Given the description of an element on the screen output the (x, y) to click on. 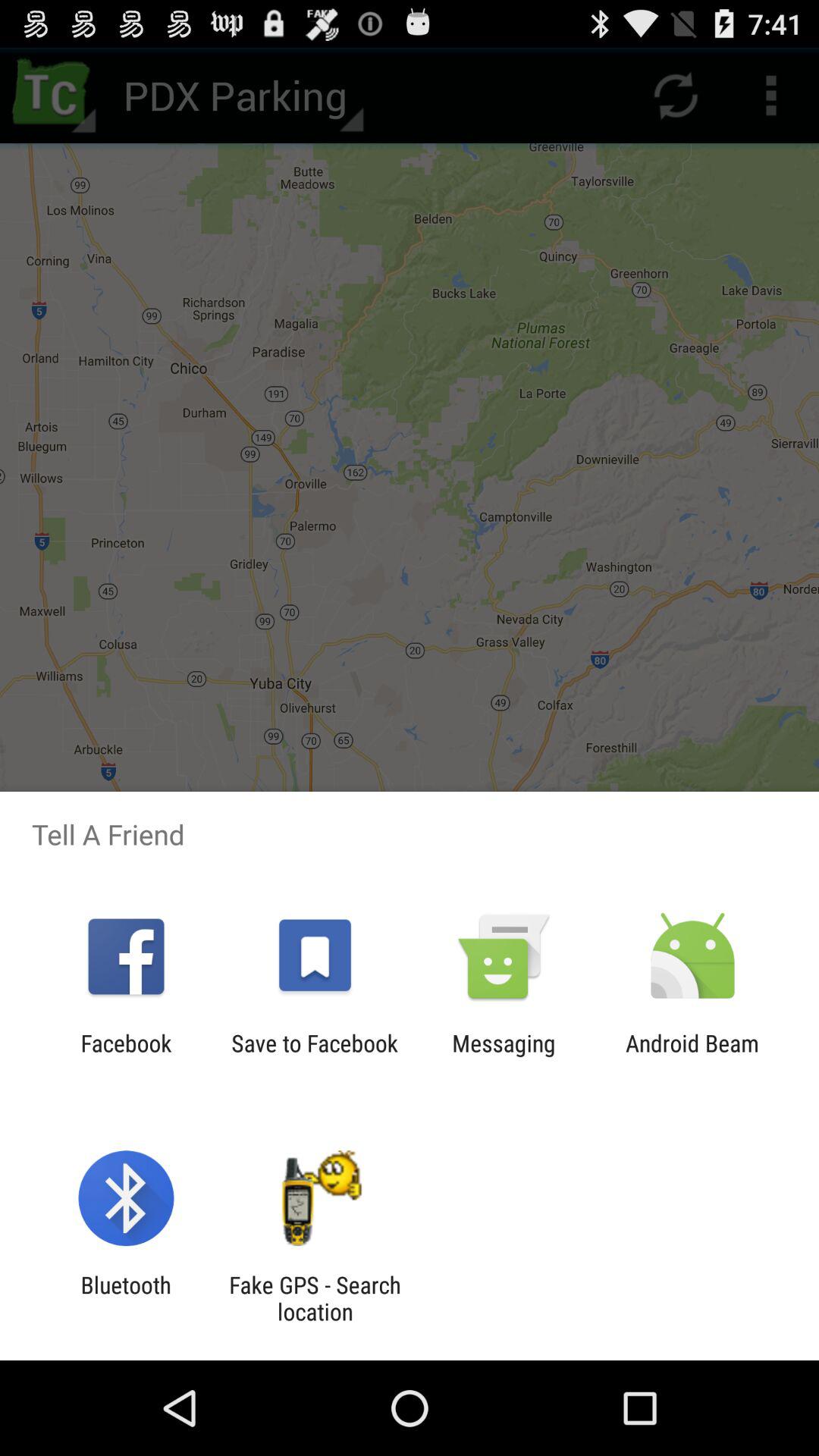
turn on the bluetooth app (125, 1298)
